Given the description of an element on the screen output the (x, y) to click on. 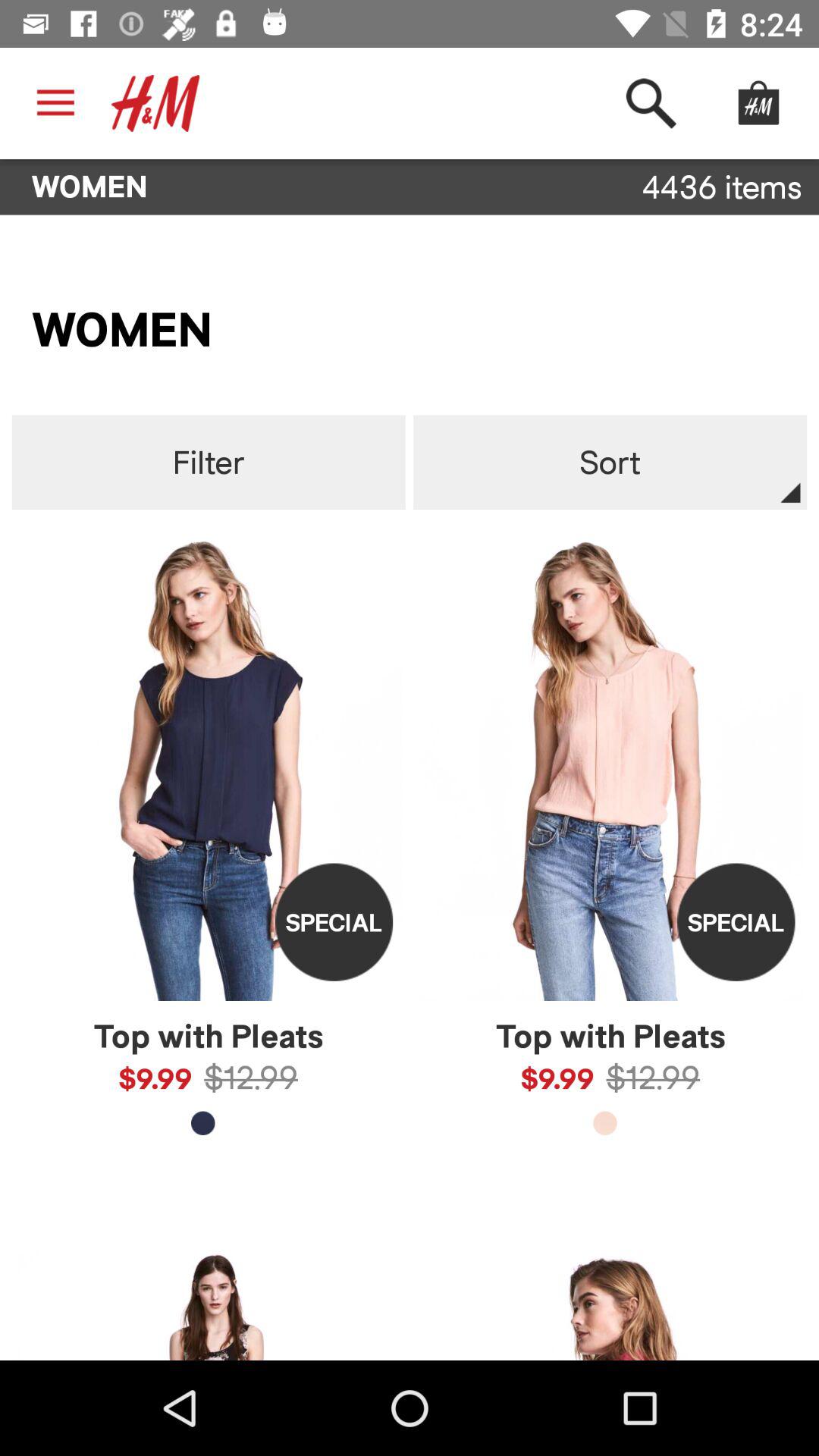
launch the icon above the women item (650, 103)
